Given the description of an element on the screen output the (x, y) to click on. 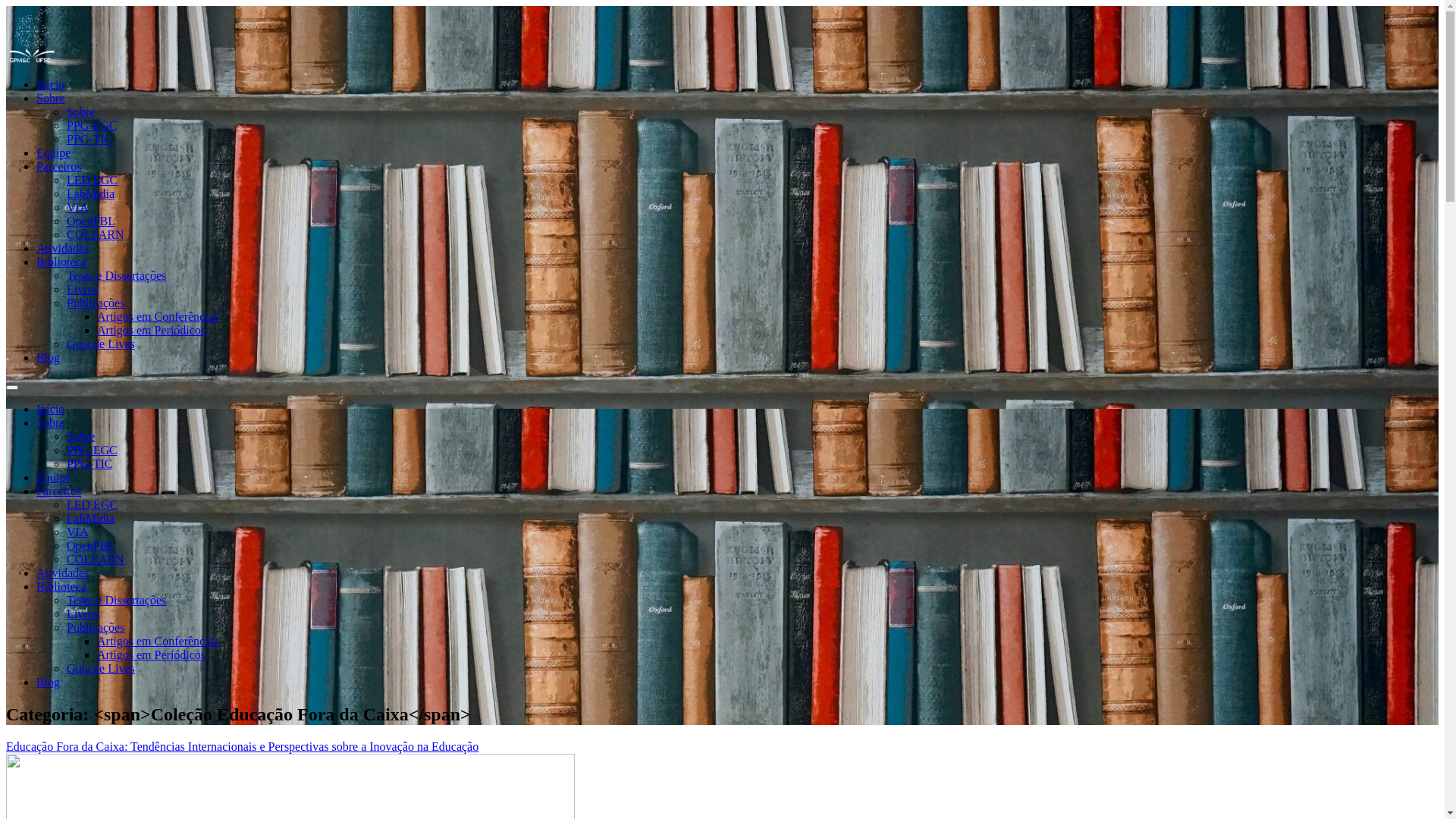
VIA Element type: text (76, 206)
VIA Element type: text (76, 531)
Sobre Element type: text (50, 97)
Blog Element type: text (47, 357)
OpenPBL Element type: text (90, 220)
Biblioteca Element type: text (61, 586)
Guia de Lives Element type: text (100, 668)
PPG-EGC Element type: text (91, 449)
Atividades Element type: text (62, 572)
Sobre Element type: text (50, 422)
Biblioteca Element type: text (61, 261)
Livros Element type: text (82, 613)
PPG-TIC Element type: text (89, 463)
Atividades Element type: text (62, 247)
Equipe Element type: text (53, 152)
Sobre Element type: text (80, 111)
Blog Element type: text (47, 681)
Parceiros Element type: text (58, 166)
COLEARN Element type: text (95, 558)
Sobre Element type: text (80, 435)
LED EGC Element type: text (91, 179)
Livros Element type: text (82, 288)
Equipe Element type: text (53, 476)
OpenPBL Element type: text (90, 545)
LED EGC Element type: text (91, 504)
Guia de Lives Element type: text (100, 343)
PPG-EGC Element type: text (91, 125)
Parceiros Element type: text (58, 490)
PPG-TIC Element type: text (89, 138)
COLEARN Element type: text (95, 234)
